Given the description of an element on the screen output the (x, y) to click on. 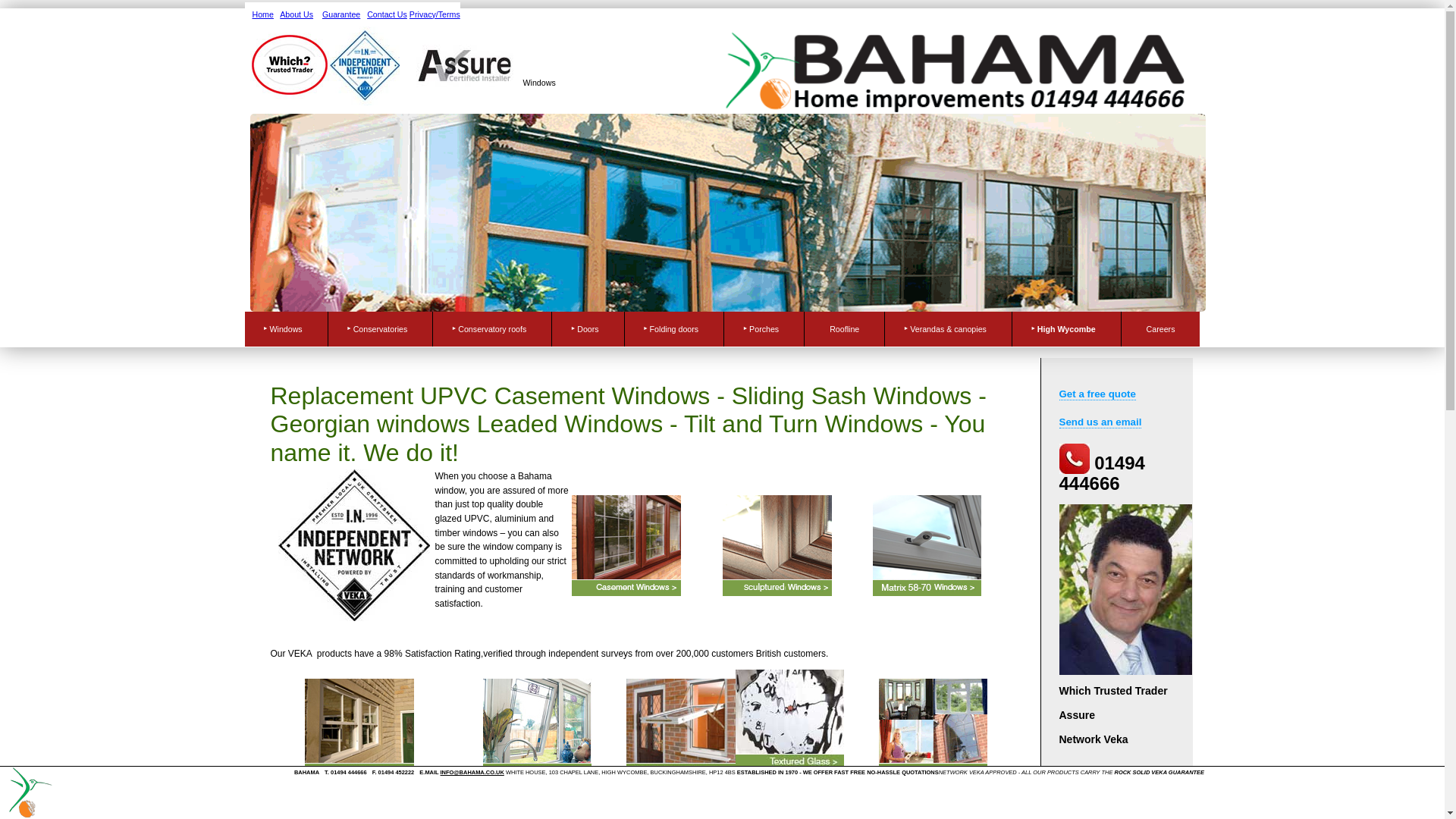
Home (262, 13)
Windows (285, 329)
Guarantee (340, 13)
Contact Us (386, 13)
Conservatories (381, 329)
About Us (296, 13)
